Given the description of an element on the screen output the (x, y) to click on. 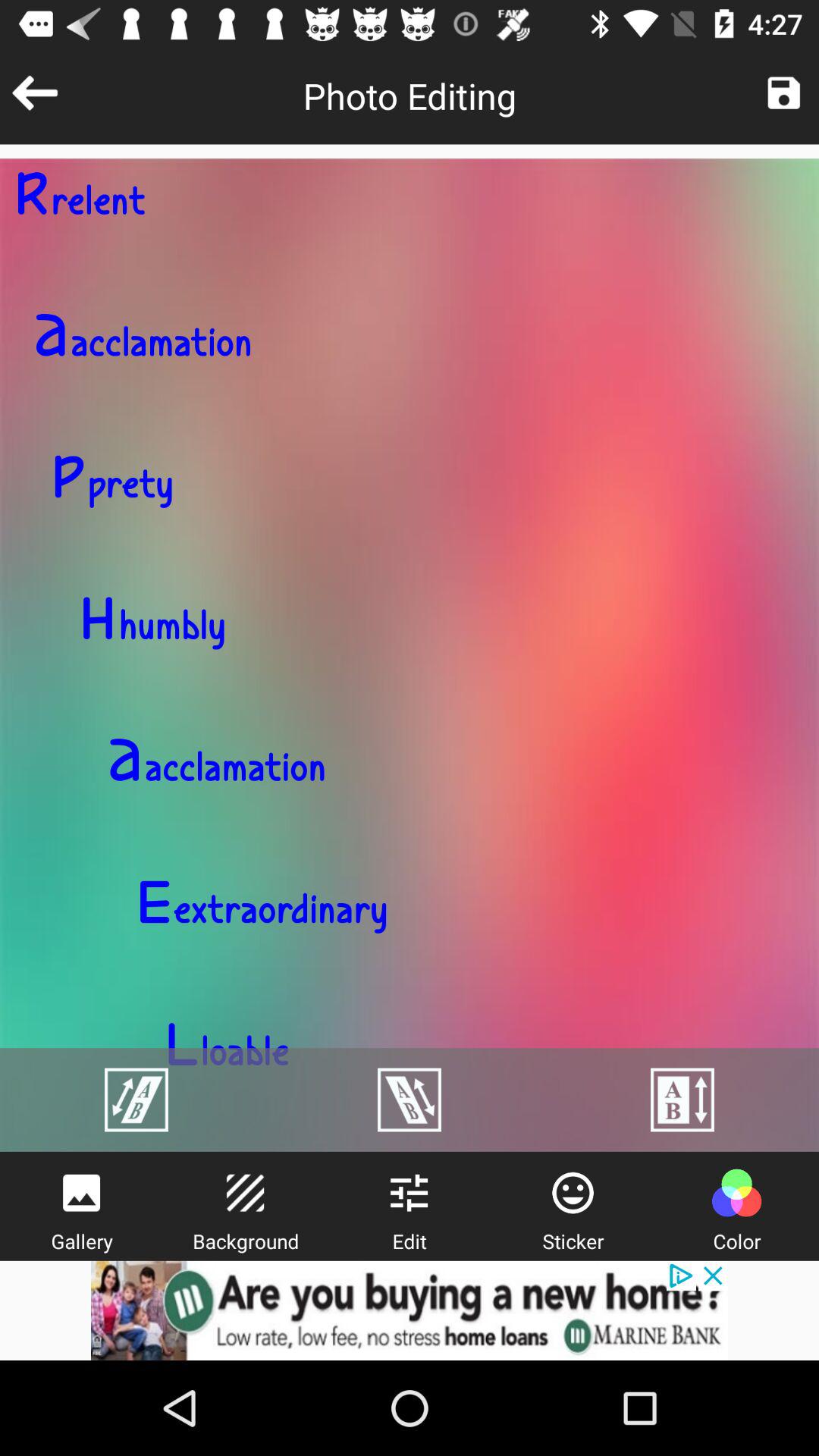
goto previous option or menu (34, 92)
